Given the description of an element on the screen output the (x, y) to click on. 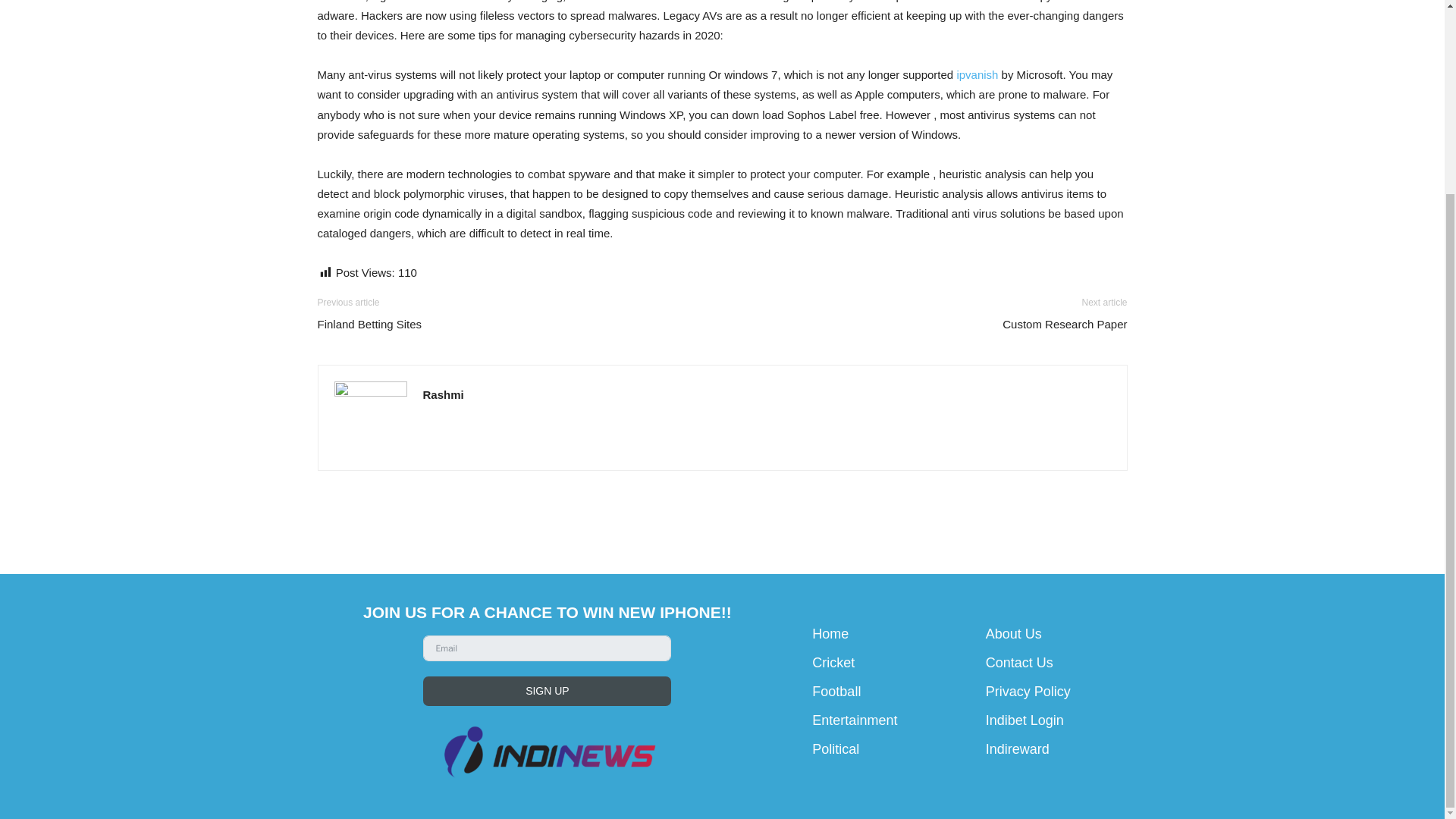
SIGN UP (547, 690)
Finland Betting Sites (369, 324)
Football (836, 691)
Political (835, 749)
ipvanish (976, 74)
Indibet Login (1024, 720)
Rashmi (443, 394)
Home (830, 633)
Indireward (1017, 749)
Entertainment (854, 720)
